Given the description of an element on the screen output the (x, y) to click on. 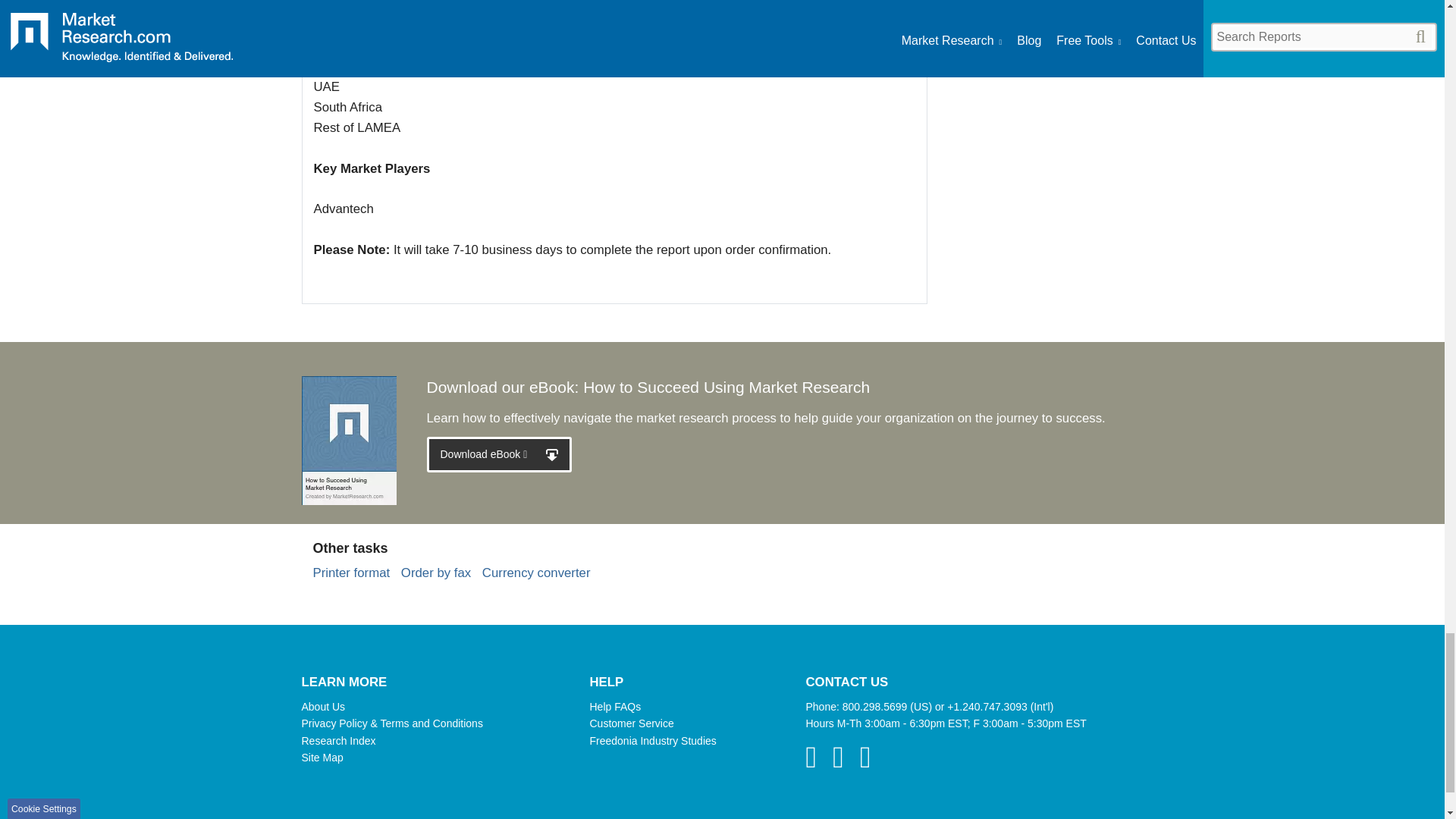
Download eBook (499, 454)
